Given the description of an element on the screen output the (x, y) to click on. 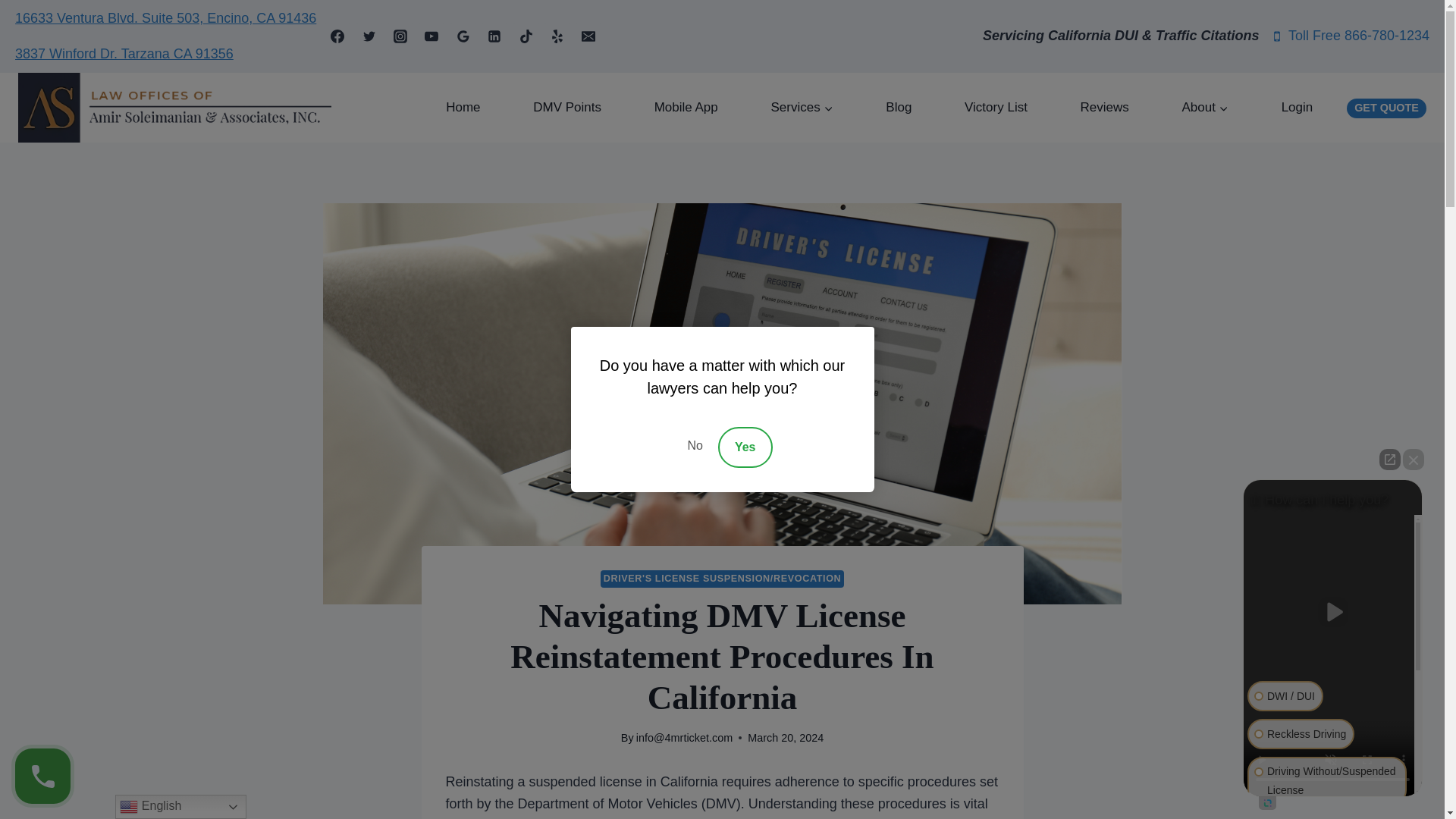
Home (462, 107)
About (1205, 107)
Services (802, 107)
Blog (899, 107)
Toll Free 866-780-1234 (1349, 35)
DMV Points (566, 107)
Reviews (1105, 107)
Victory List (995, 107)
GET QUOTE (1386, 107)
Mobile App (685, 107)
3837 Winford Dr. Tarzana CA 91356 (123, 53)
Login (1297, 107)
16633 Ventura Blvd. Suite 503, Encino, CA 91436 (164, 17)
